Given the description of an element on the screen output the (x, y) to click on. 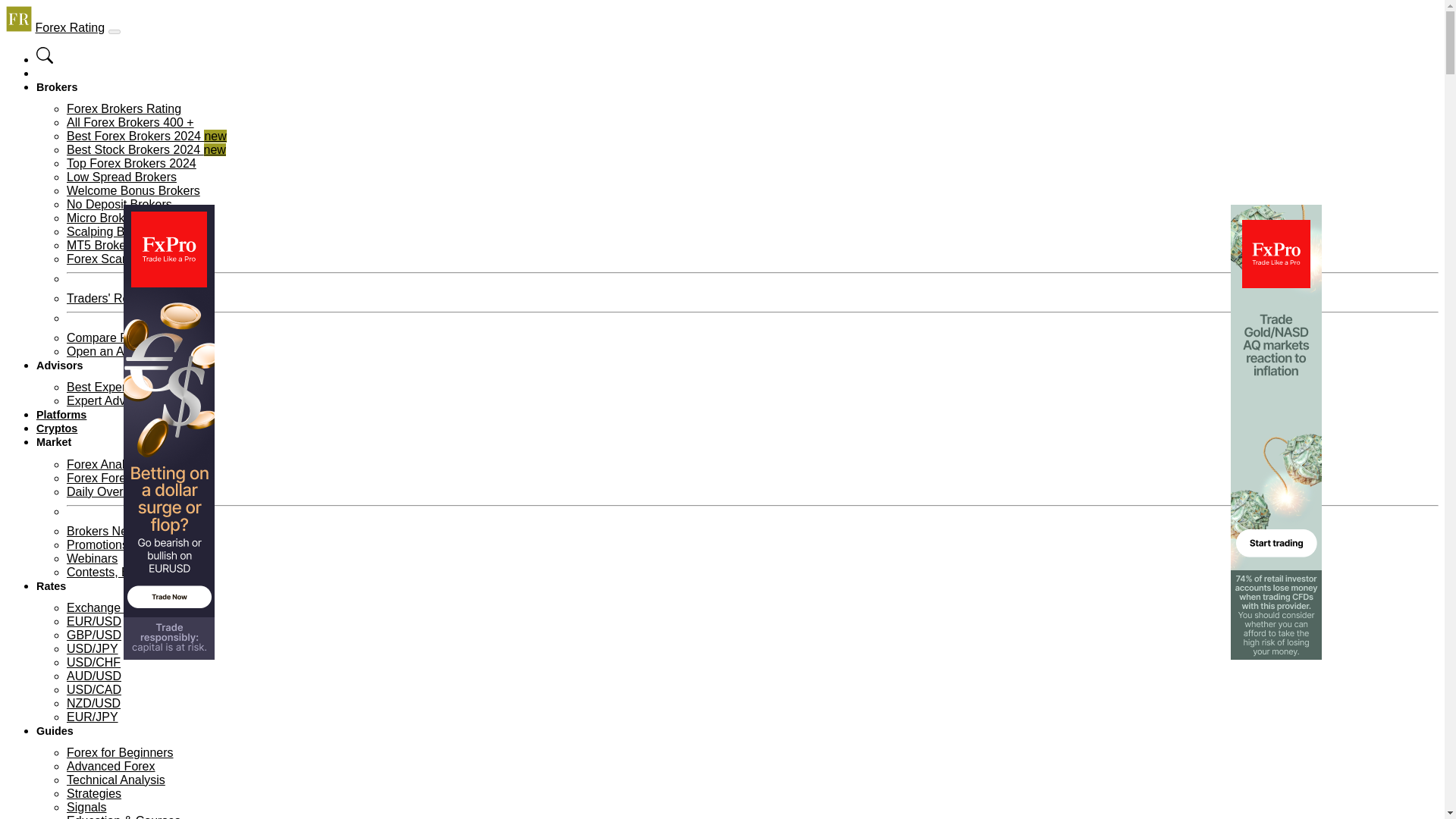
MT5 Brokers (101, 245)
Open an Account (113, 350)
Search (44, 60)
Forex Brokers Rating (123, 108)
Promotions (97, 544)
Daily Overviews (110, 491)
Cryptos (56, 428)
Low Spread Brokers (121, 176)
Best Stock Brokers 2024 new (145, 149)
Top Forex Brokers 2024 (131, 163)
Scalping Brokers (112, 231)
Exchange Rates (110, 607)
Brokers News (104, 530)
Platforms (60, 414)
Forex Rating (69, 27)
